Given the description of an element on the screen output the (x, y) to click on. 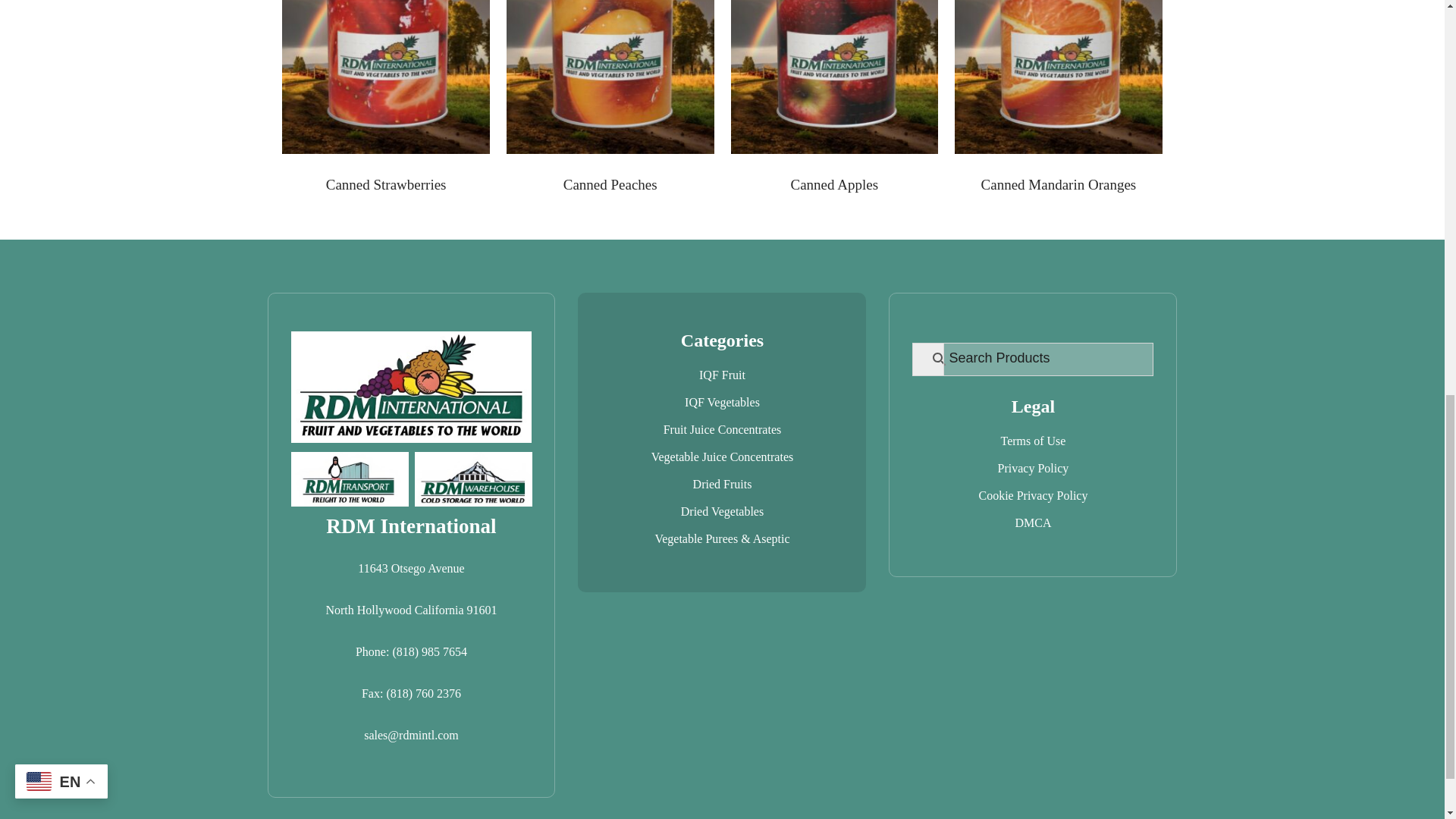
Canned Apples (834, 98)
Canned Mandarin Oranges (1058, 98)
Canned Strawberries (385, 98)
Canned Peaches (610, 98)
